Given the description of an element on the screen output the (x, y) to click on. 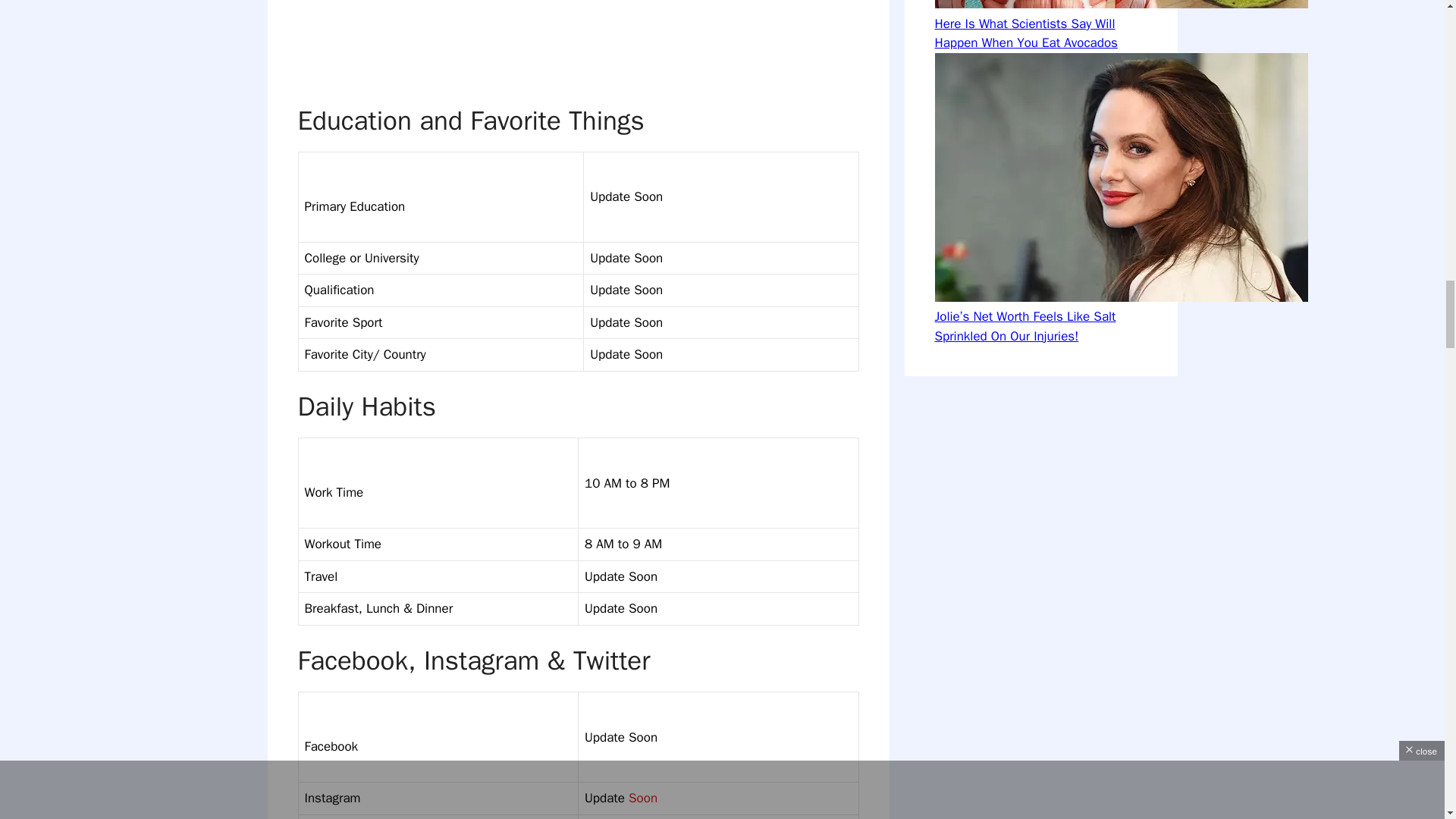
Soon (643, 797)
